Given the description of an element on the screen output the (x, y) to click on. 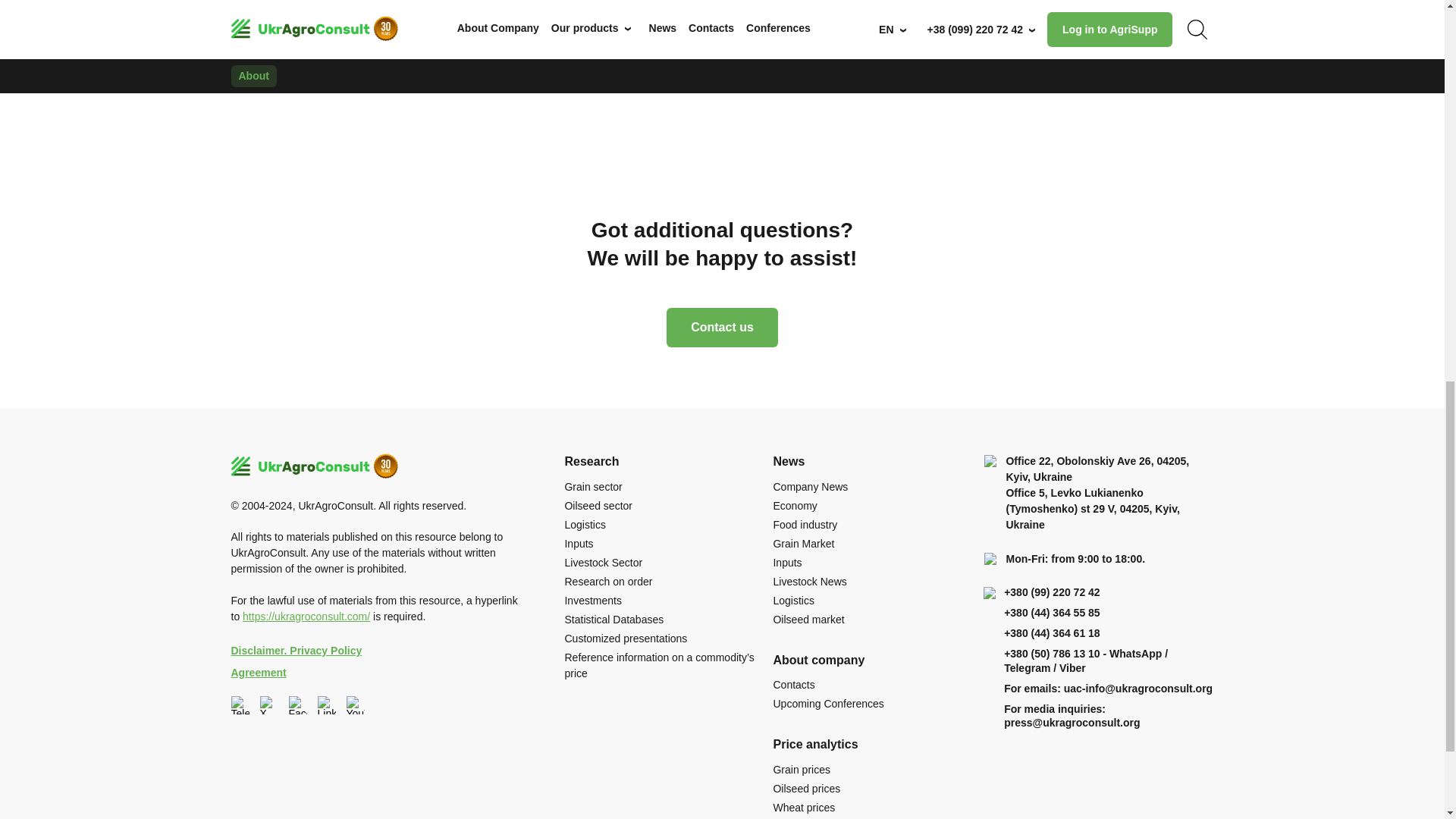
LinkedIn (325, 705)
X (268, 705)
Facebook (296, 705)
Telegram (239, 705)
YouTube (355, 705)
